Given the description of an element on the screen output the (x, y) to click on. 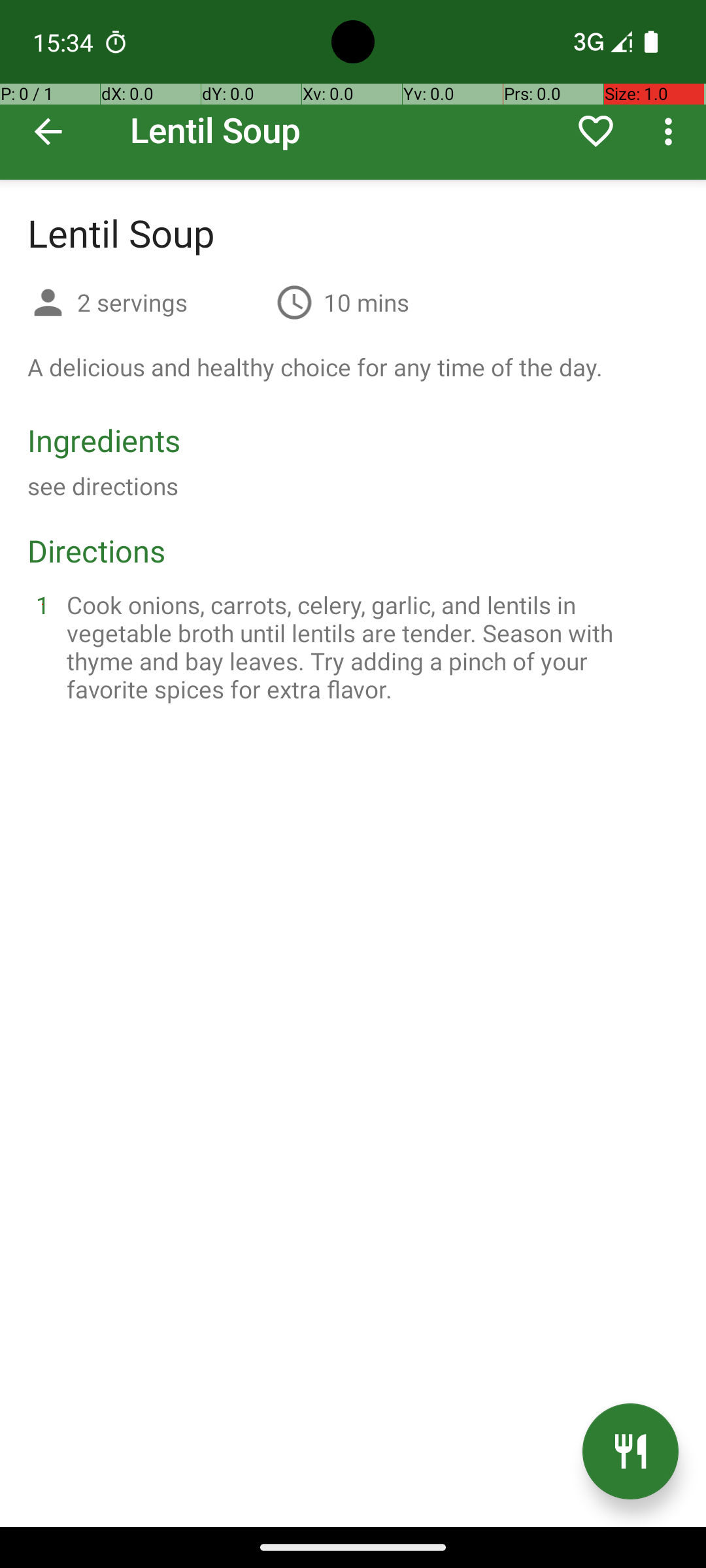
Cook onions, carrots, celery, garlic, and lentils in vegetable broth until lentils are tender. Season with thyme and bay leaves. Try adding a pinch of your favorite spices for extra flavor. Element type: android.widget.TextView (368, 646)
